Given the description of an element on the screen output the (x, y) to click on. 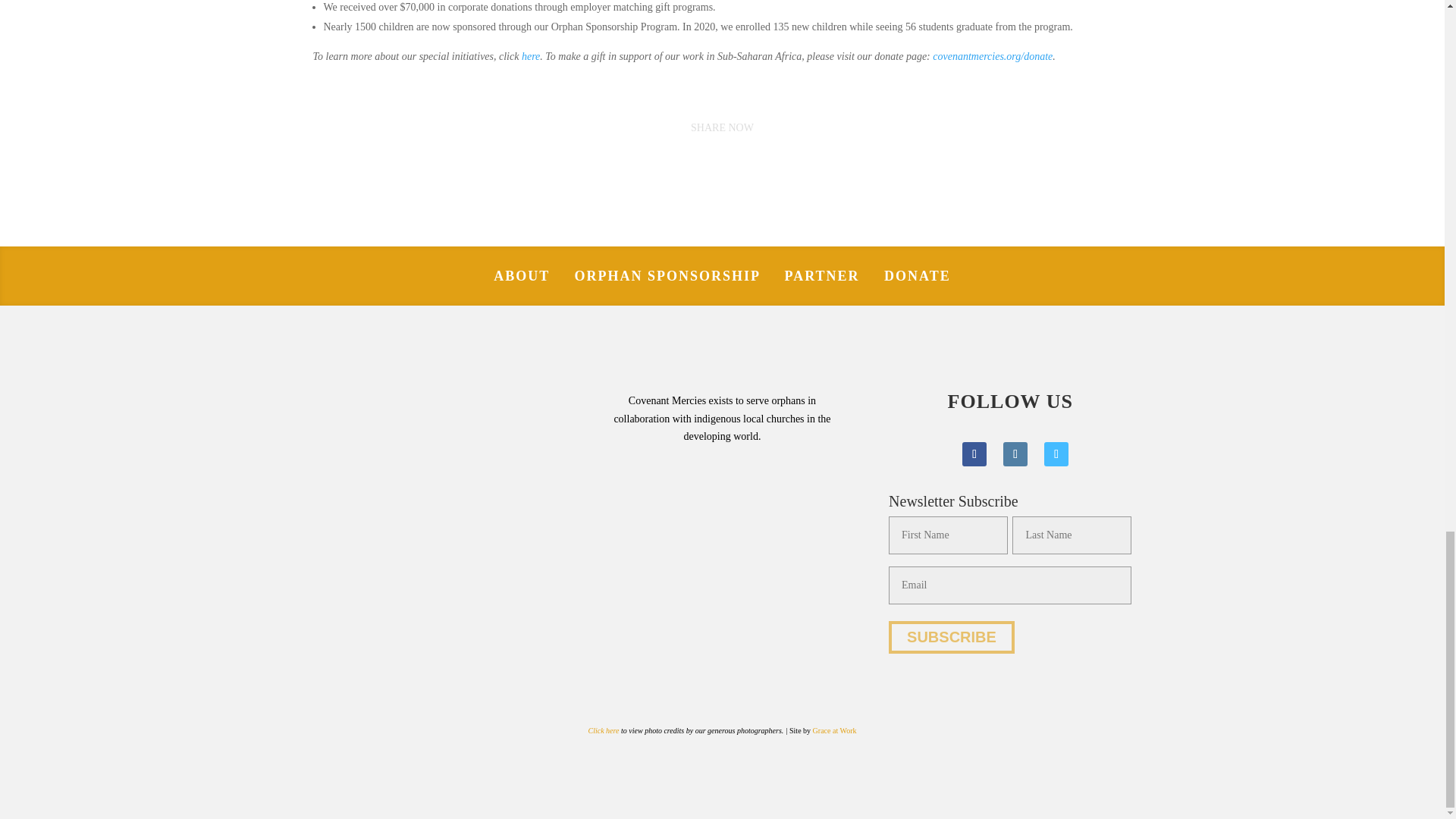
Follow on Instagram (1015, 454)
Follow on Vimeo (1055, 454)
Subscribe (951, 636)
Follow on Facebook (974, 454)
